Given the description of an element on the screen output the (x, y) to click on. 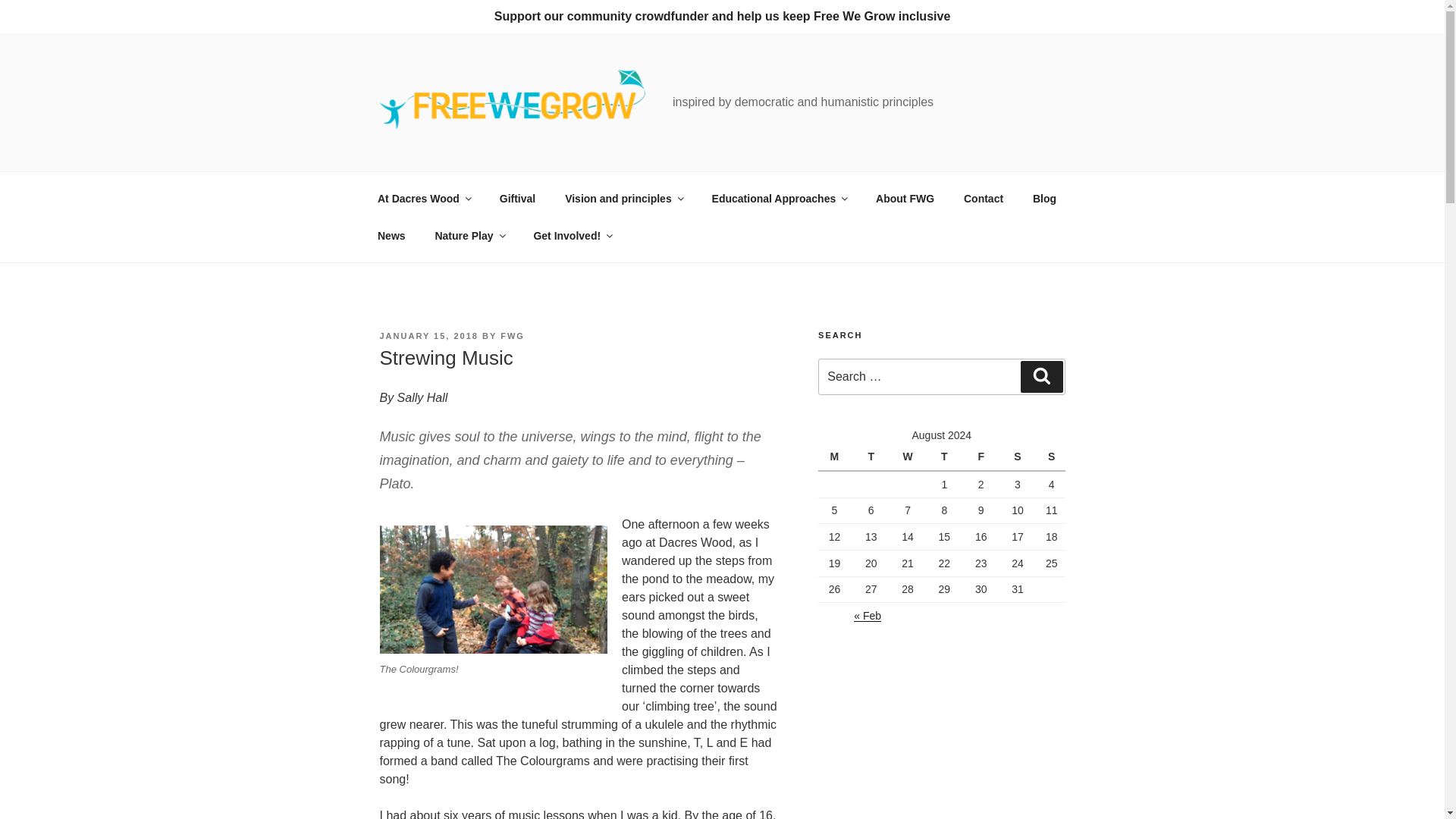
FWG (512, 335)
Saturday (1019, 456)
News (391, 235)
Wednesday (909, 456)
Blog (1043, 198)
JANUARY 15, 2018 (427, 335)
At Dacres Wood (423, 198)
Vision and principles (623, 198)
Nature Play (469, 235)
Monday (836, 456)
